Given the description of an element on the screen output the (x, y) to click on. 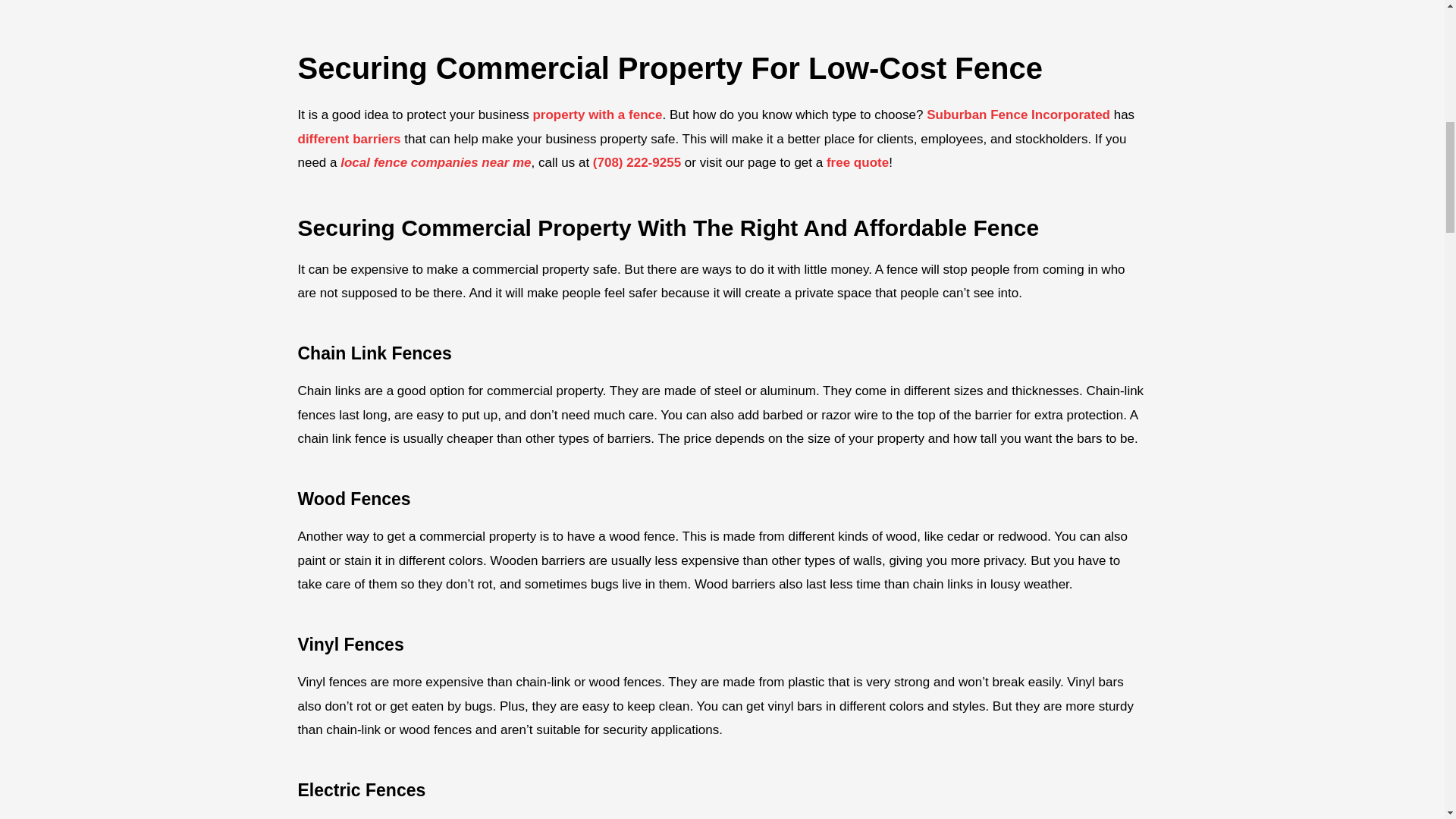
local fence companies near me (435, 162)
free quote (857, 162)
different barriers (348, 138)
property with a fence (597, 114)
Suburban Fence Incorporated (1017, 114)
